Given the description of an element on the screen output the (x, y) to click on. 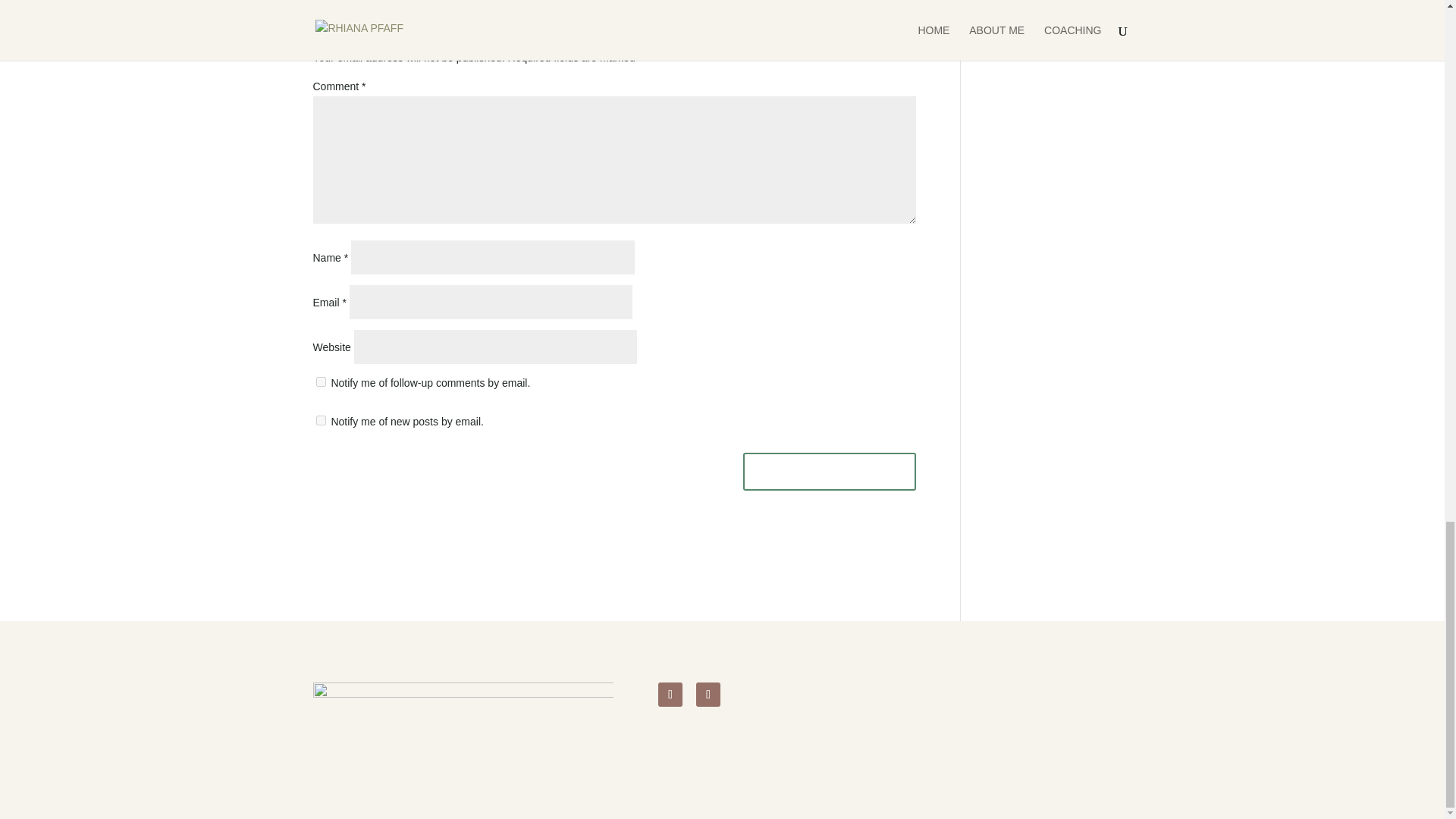
BIG copy (462, 719)
subscribe (319, 381)
Submit Comment (828, 471)
subscribe (319, 420)
Follow on Facebook (707, 694)
Follow on Instagram (670, 694)
Submit Comment (828, 471)
